Given the description of an element on the screen output the (x, y) to click on. 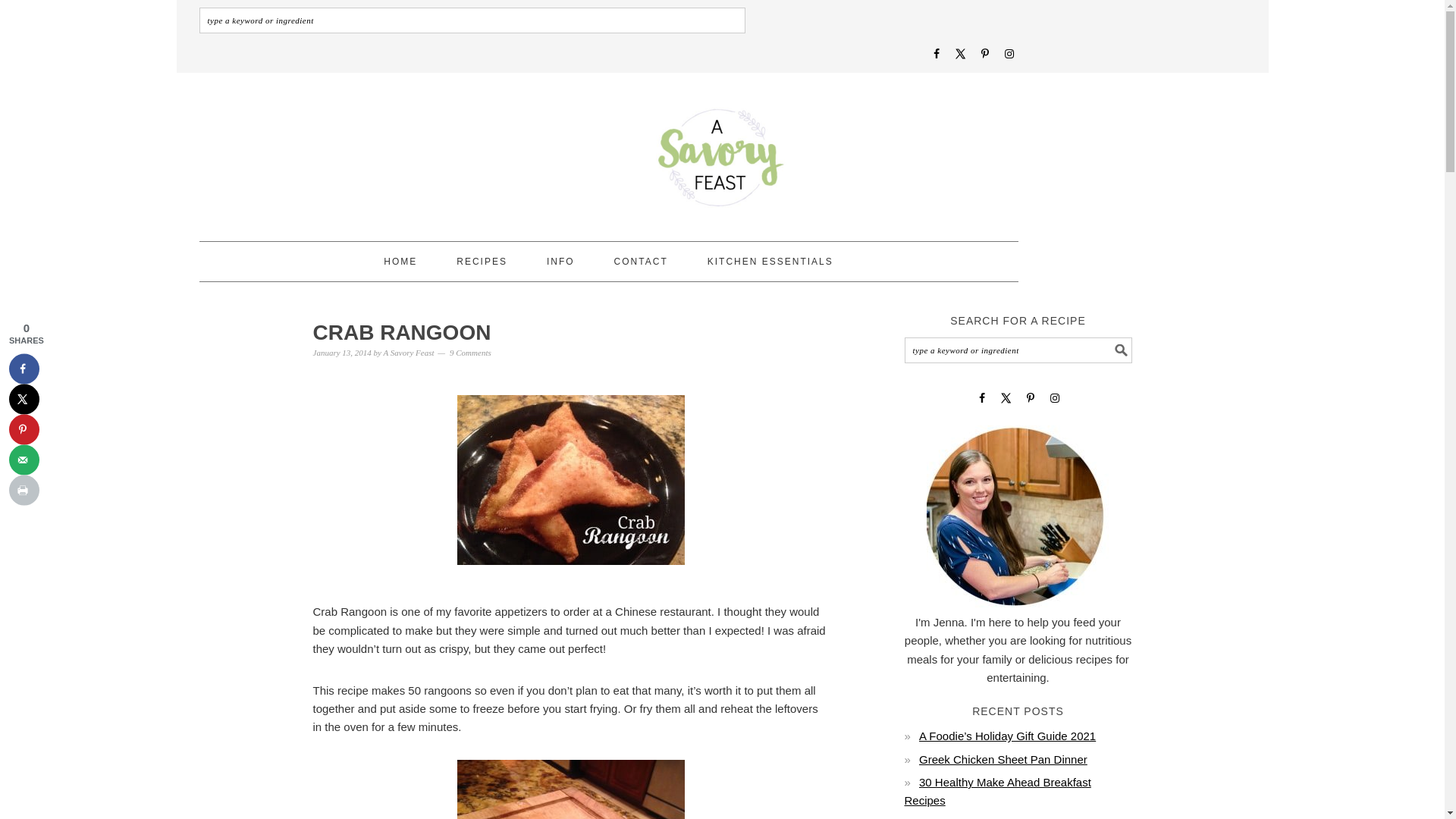
HOME (400, 261)
9 Comments (470, 352)
A Savory Feast (407, 352)
KITCHEN ESSENTIALS (769, 261)
RECIPES (481, 261)
Follow on Facebook (980, 397)
INFO (560, 261)
Follow on Facebook (935, 52)
Follow on Pinterest (1029, 397)
